Given the description of an element on the screen output the (x, y) to click on. 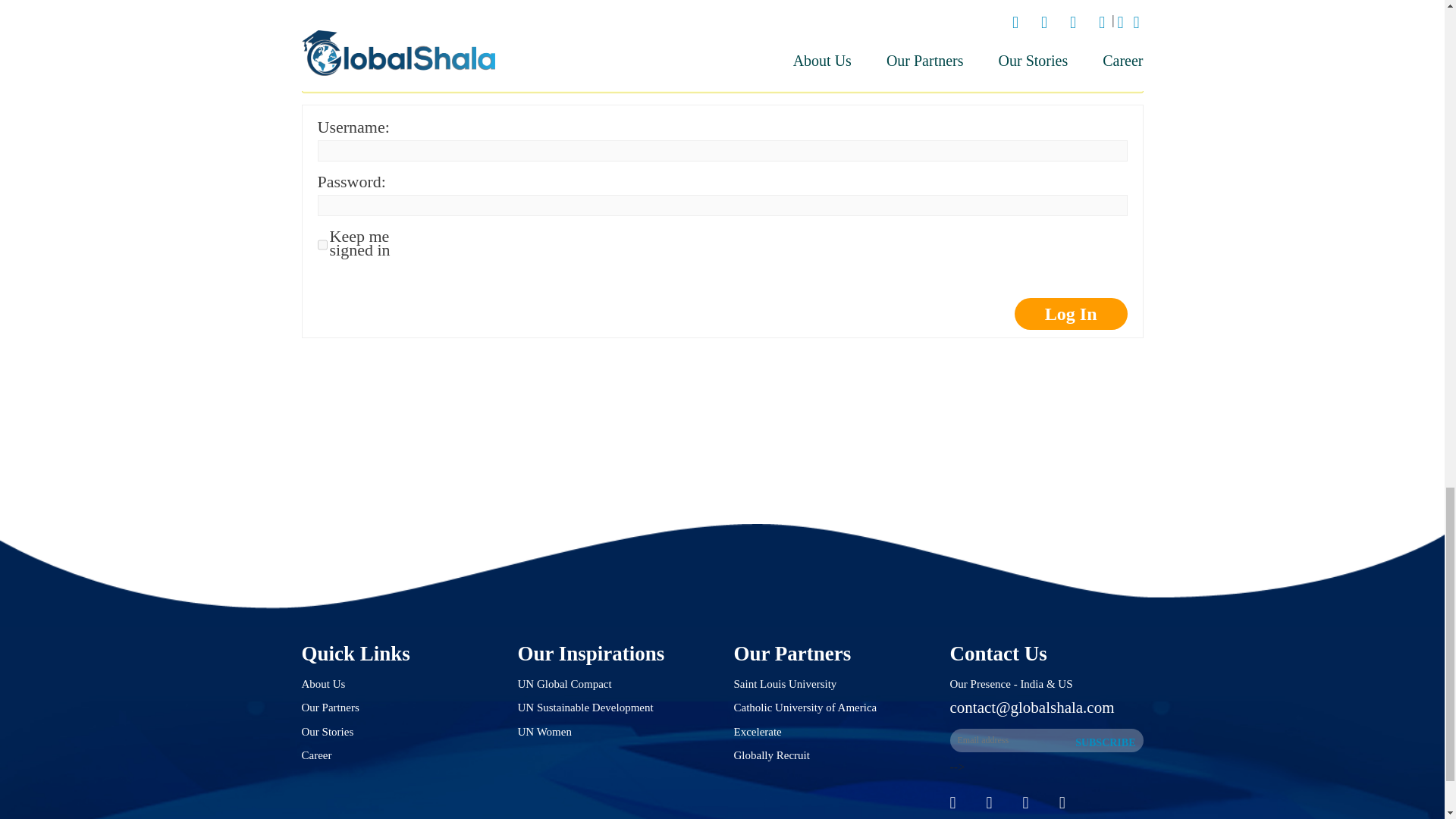
About Us (323, 684)
Subscribe (1104, 742)
Our Partners (330, 707)
UN Sustainable Development (584, 707)
Log In (1070, 314)
Our Stories (327, 731)
Saint Louis University (785, 684)
UN Global Compact (563, 684)
Career (316, 755)
UN Women (543, 731)
